Given the description of an element on the screen output the (x, y) to click on. 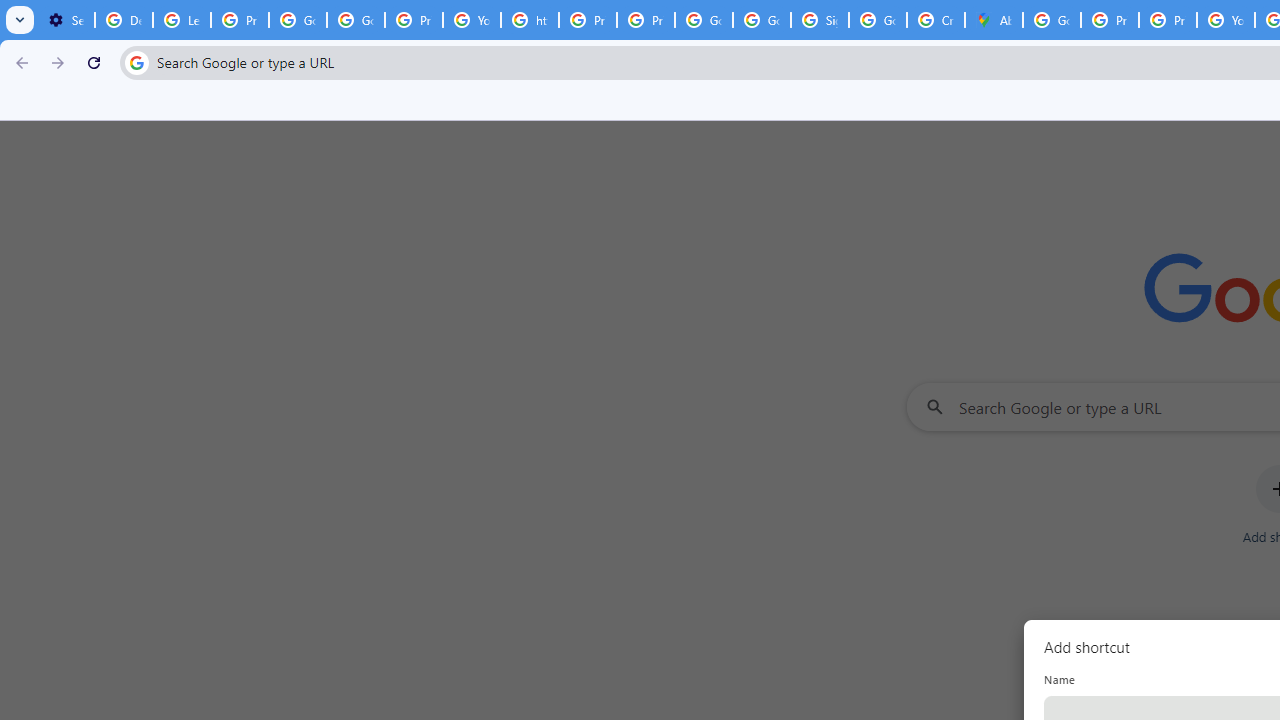
YouTube (1225, 20)
Create your Google Account (936, 20)
Sign in - Google Accounts (819, 20)
Privacy Help Center - Policies Help (1110, 20)
Google Account Help (297, 20)
Privacy Help Center - Policies Help (1167, 20)
